Given the description of an element on the screen output the (x, y) to click on. 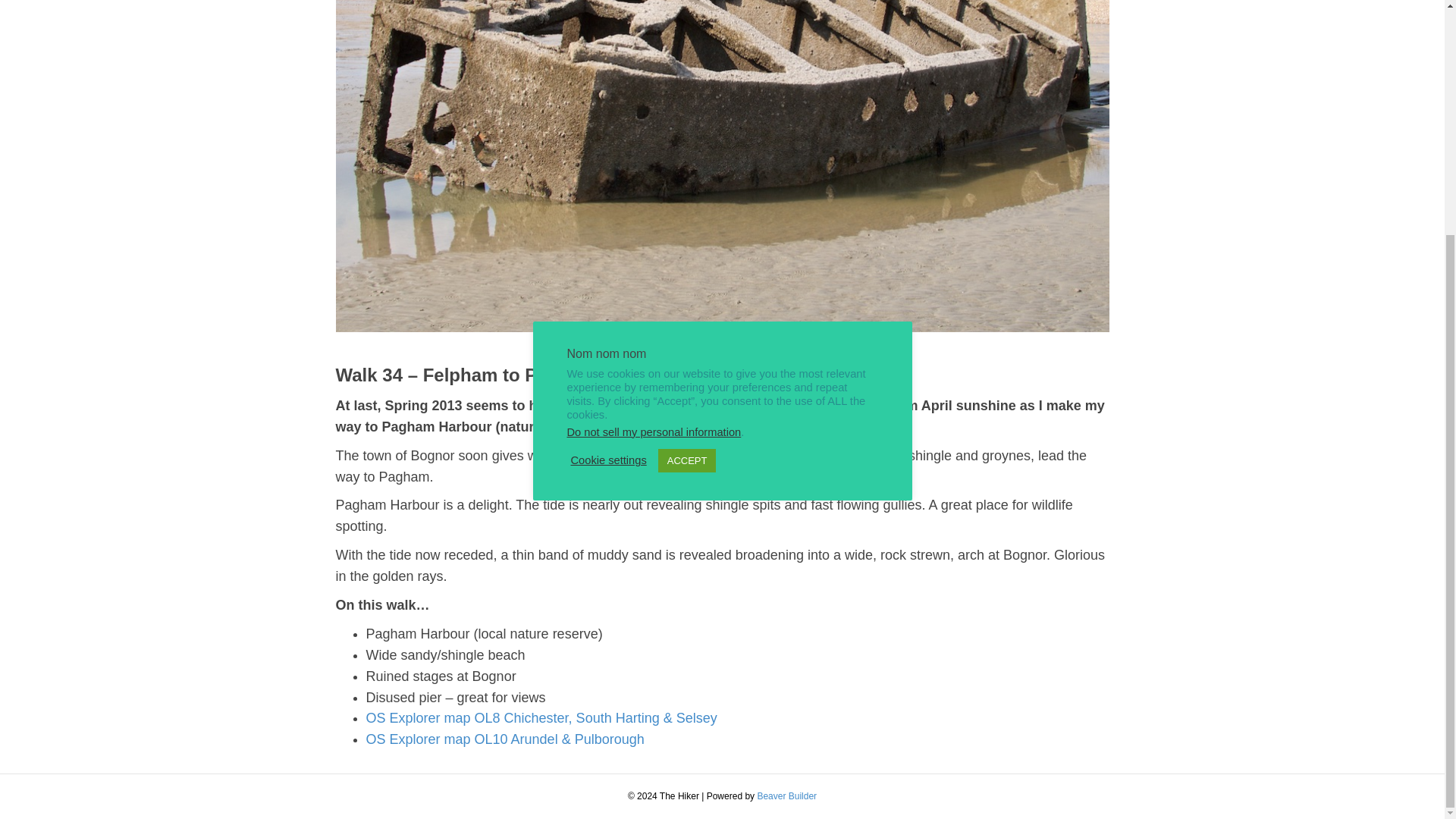
Beaver Builder (786, 796)
WordPress Page Builder Plugin (786, 796)
Do not sell my personal information (654, 111)
Cookie settings (608, 140)
ACCEPT (687, 140)
